Given the description of an element on the screen output the (x, y) to click on. 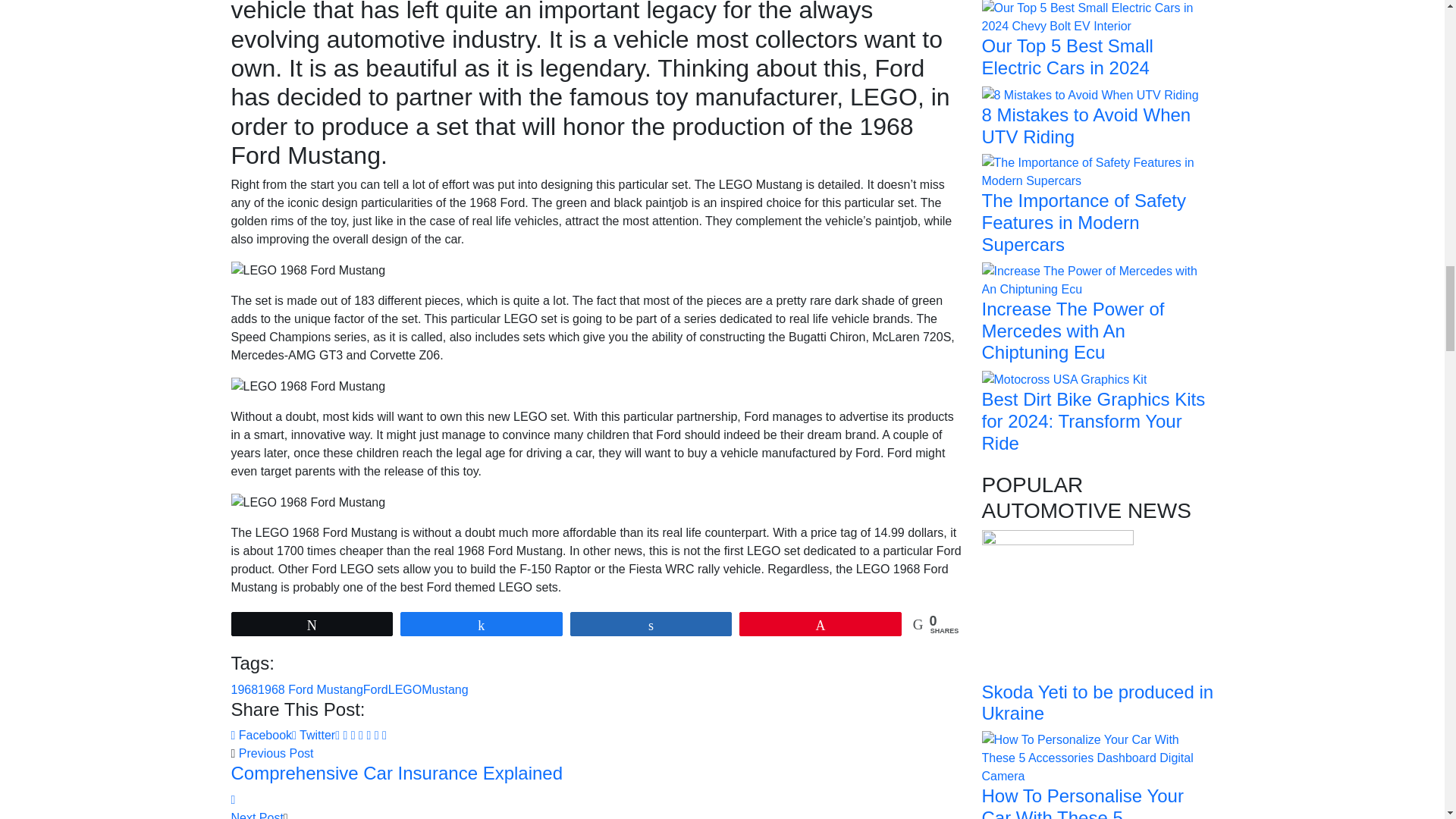
8 Mistakes to Avoid When UTV Riding (1089, 93)
Increase The Power of Mercedes with An Chiptuning Ecu (1096, 278)
Skoda Yeti to be produced in Ukraine (1056, 604)
Our Top 5 Best Small Electric Cars in 2024 (1096, 16)
How To Personalise Your Car With These 5 Accessories (1096, 757)
The Importance of Safety Features in Modern Supercars (1096, 171)
Best Dirt Bike Graphics Kits for 2024: Transform Your Ride (1064, 378)
